Given the description of an element on the screen output the (x, y) to click on. 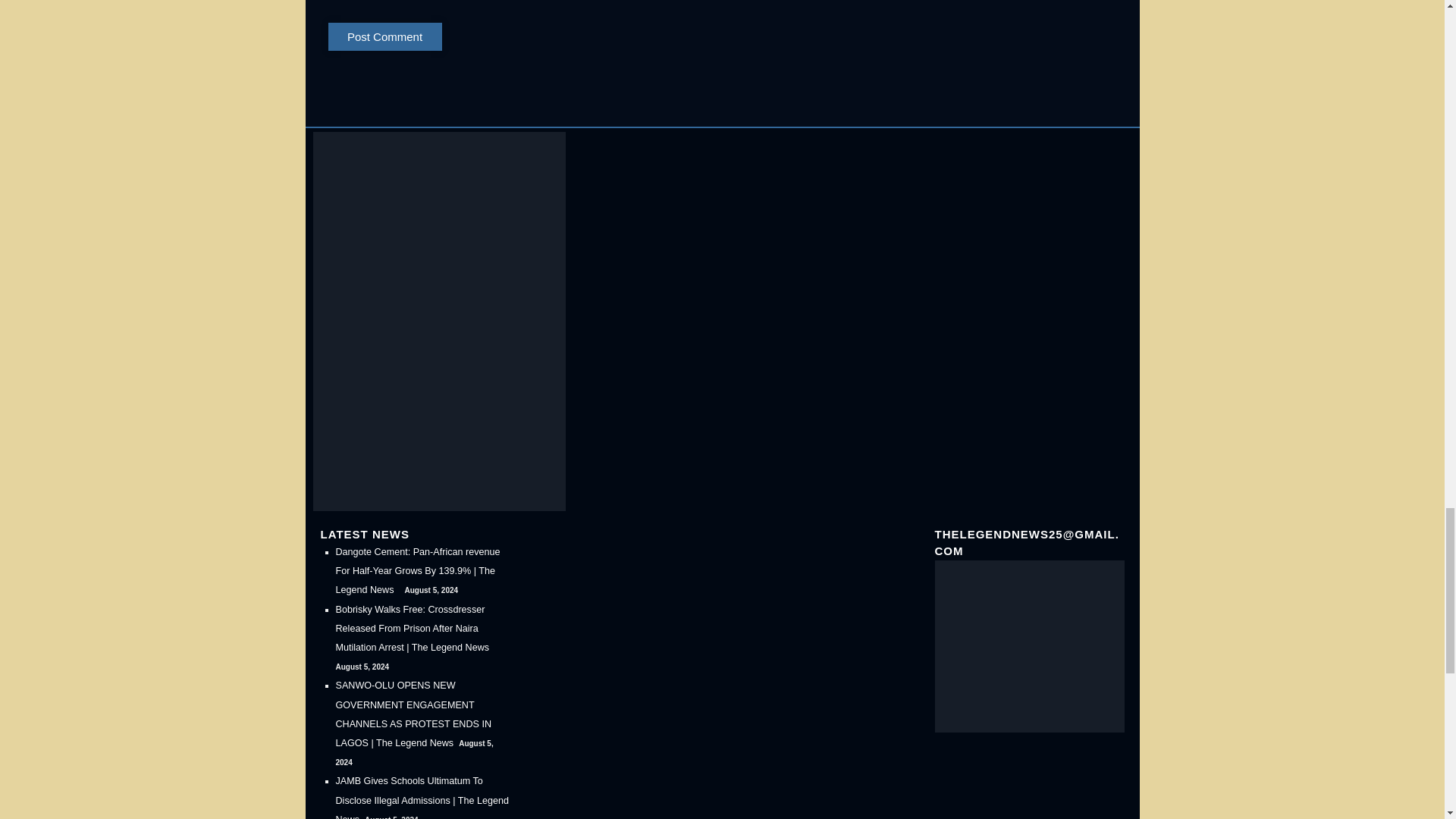
Post Comment (384, 36)
